Given the description of an element on the screen output the (x, y) to click on. 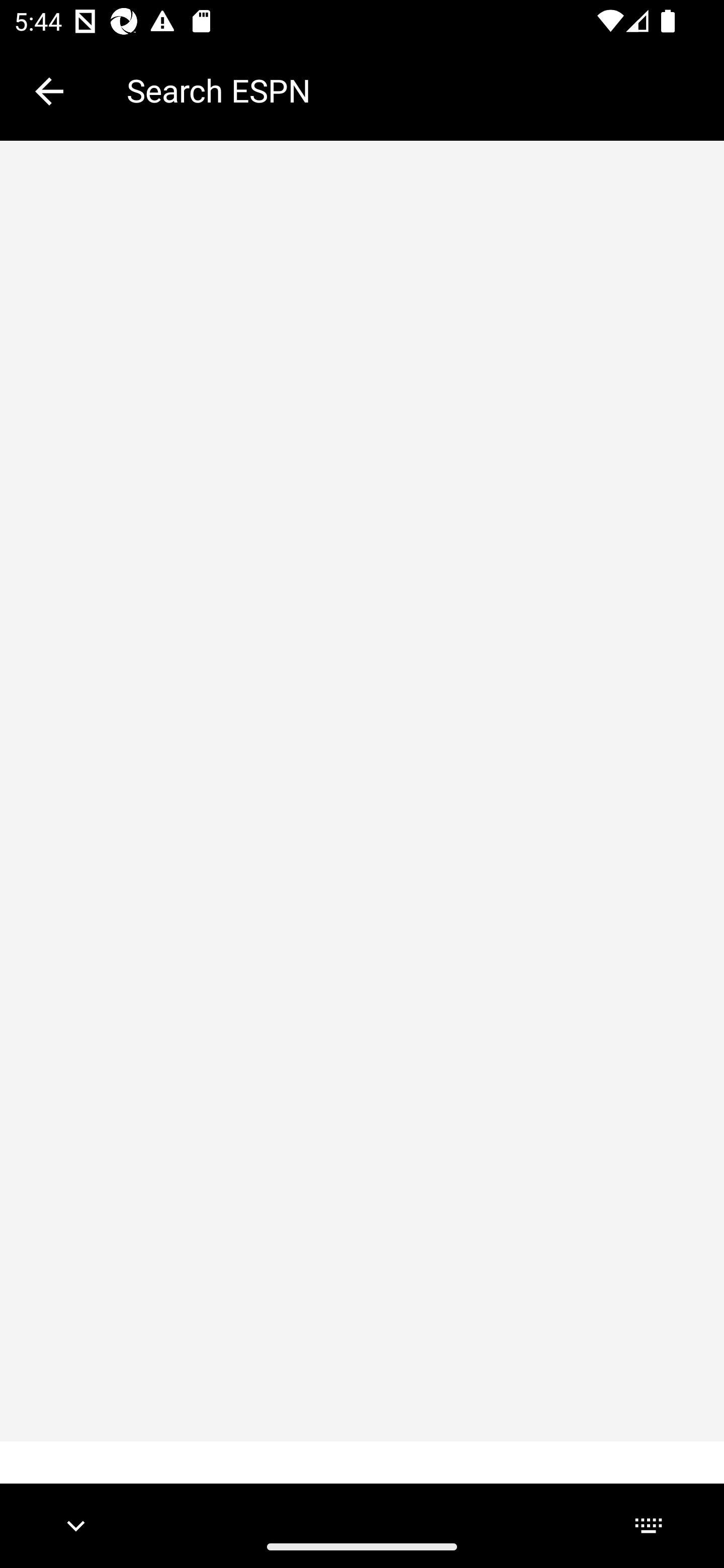
Collapse (49, 91)
Search ESPN (411, 90)
